Given the description of an element on the screen output the (x, y) to click on. 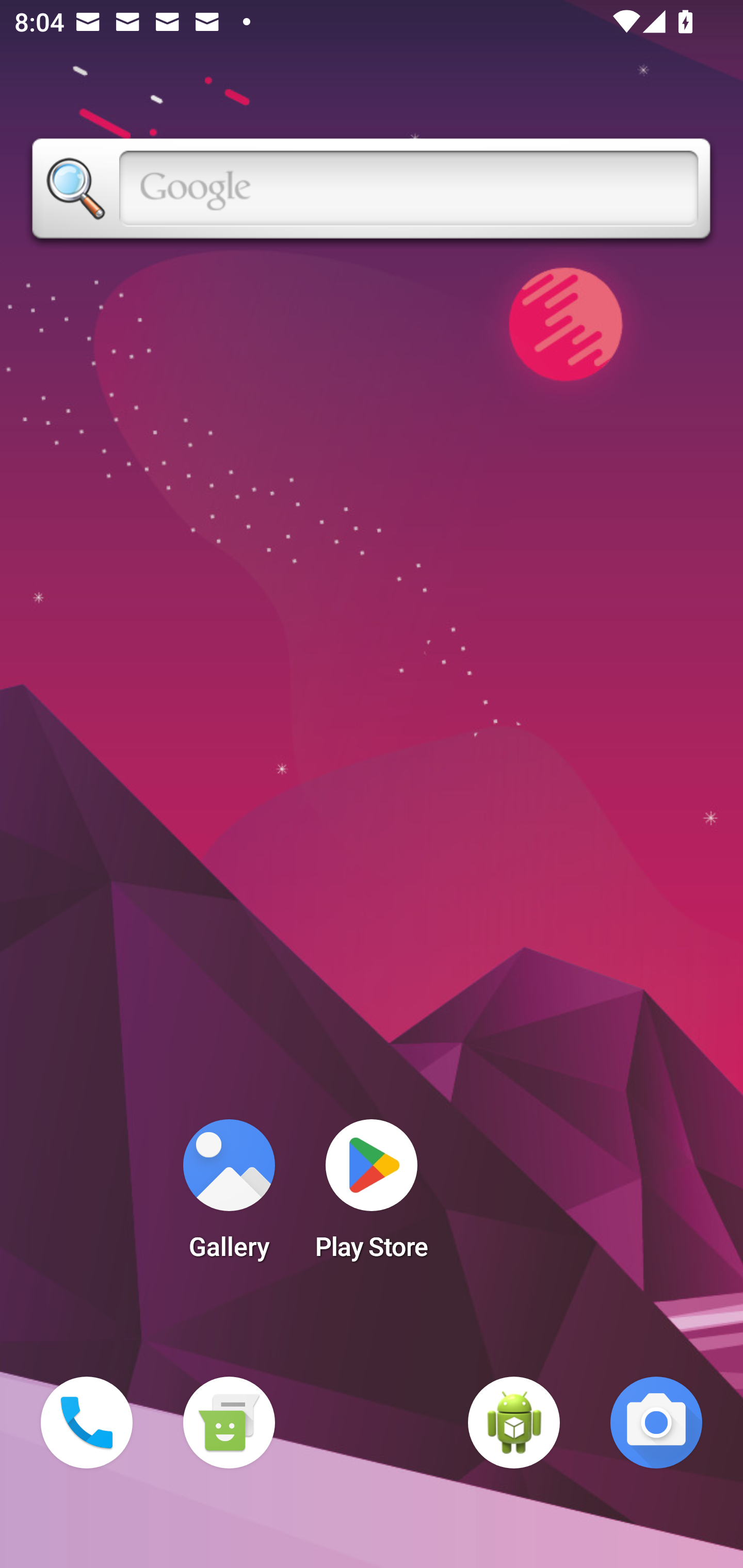
Gallery (228, 1195)
Play Store (371, 1195)
Phone (86, 1422)
Messaging (228, 1422)
WebView Browser Tester (513, 1422)
Camera (656, 1422)
